Given the description of an element on the screen output the (x, y) to click on. 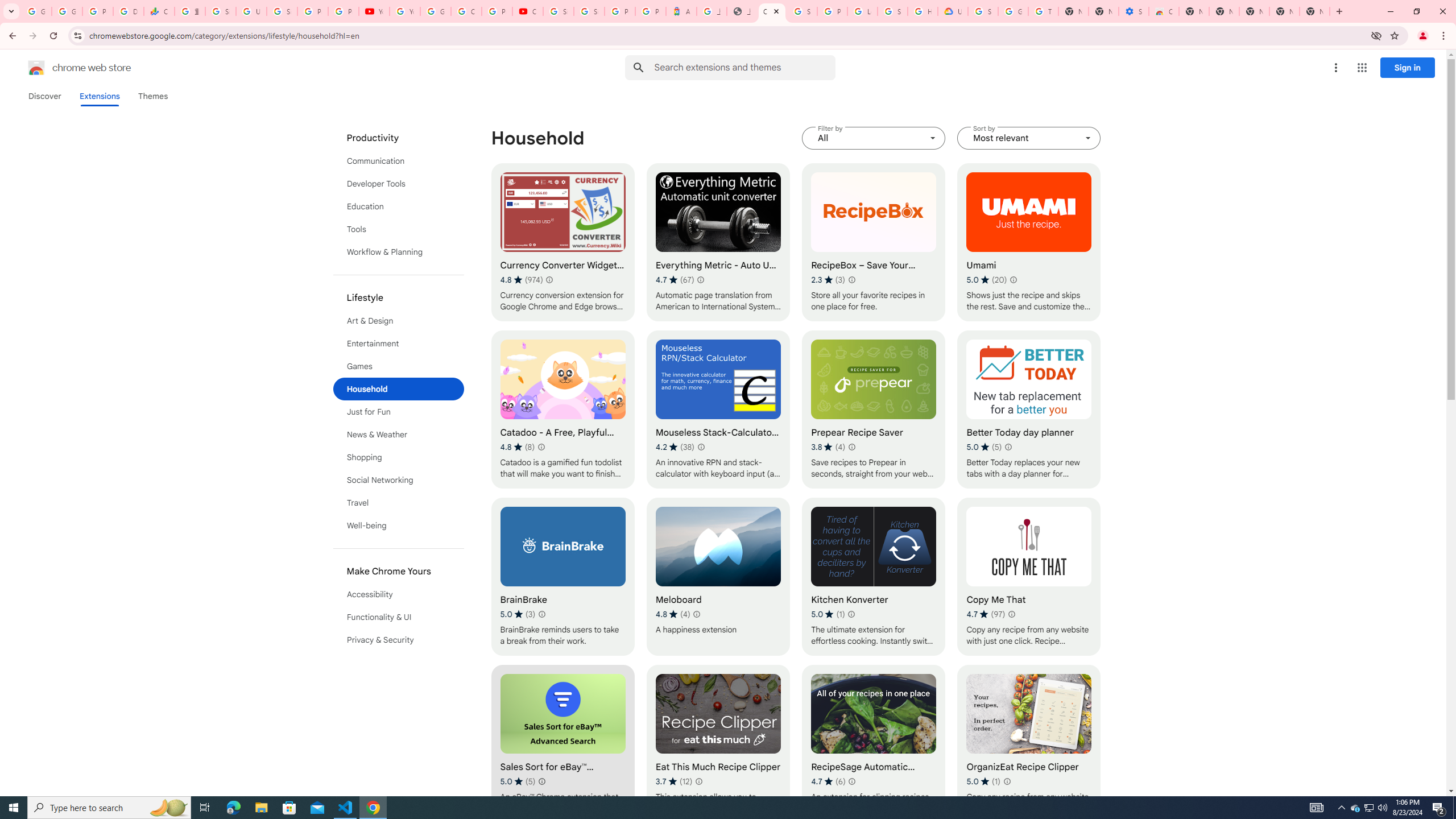
New Tab (1193, 11)
Chrome Web Store - Accessibility extensions (1163, 11)
Learn more about results and reviews "Copy Me That" (1010, 613)
Average rating 2.3 out of 5 stars. 3 ratings. (827, 279)
Learn more about results and reviews "Meloboard" (696, 613)
Chrome Web Store logo chrome web store (67, 67)
Search input (744, 67)
Shopping (398, 456)
